Given the description of an element on the screen output the (x, y) to click on. 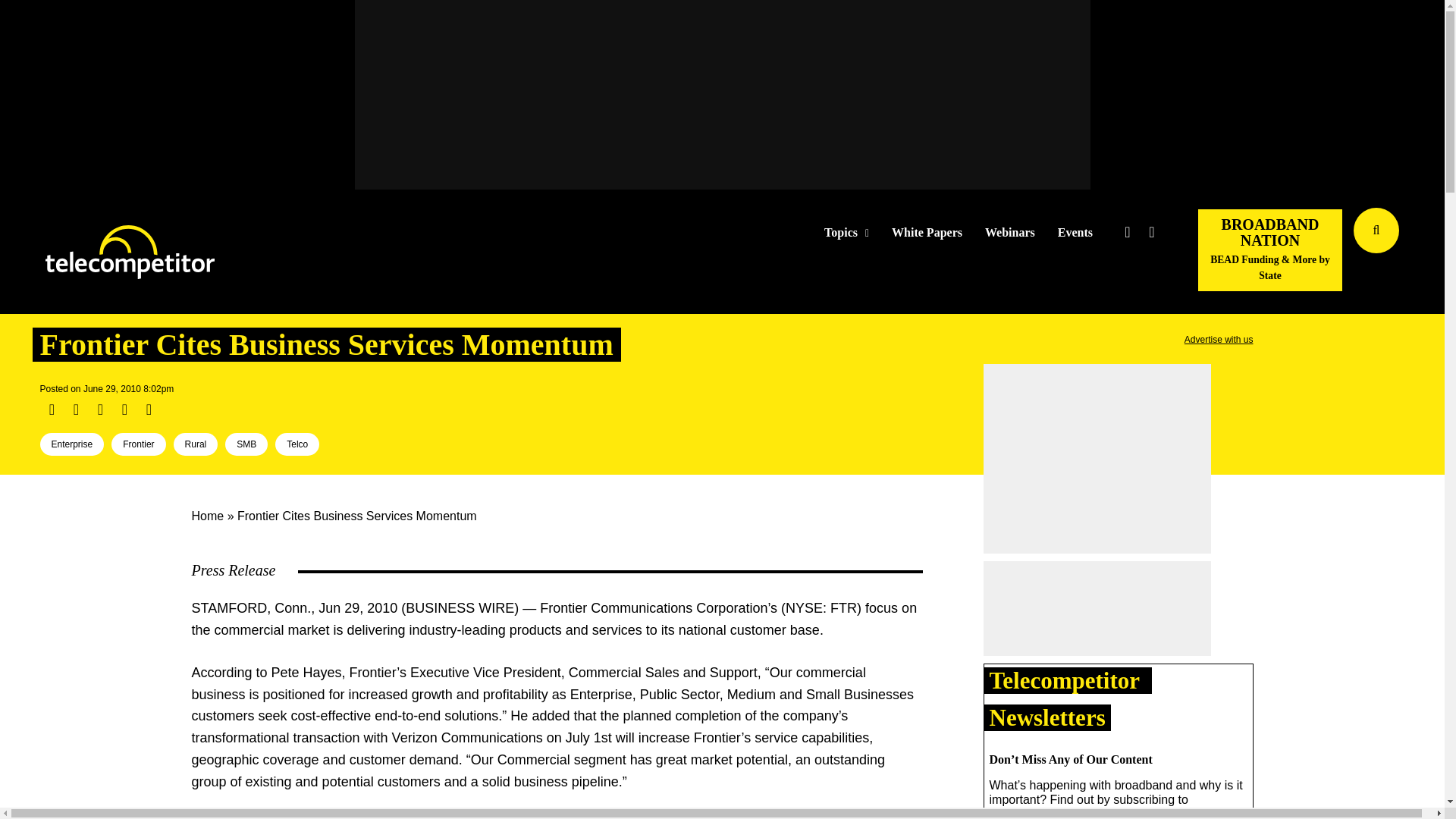
Search (1430, 253)
Events (1074, 232)
Share on Facebook (51, 409)
Search telecompetitor.com (1376, 230)
Follow Us on LinkedIN (1151, 232)
Topics (846, 232)
Spread the word on Twitter (75, 409)
Share on Linked In (99, 409)
Pinterest (124, 409)
White Papers (927, 232)
